Given the description of an element on the screen output the (x, y) to click on. 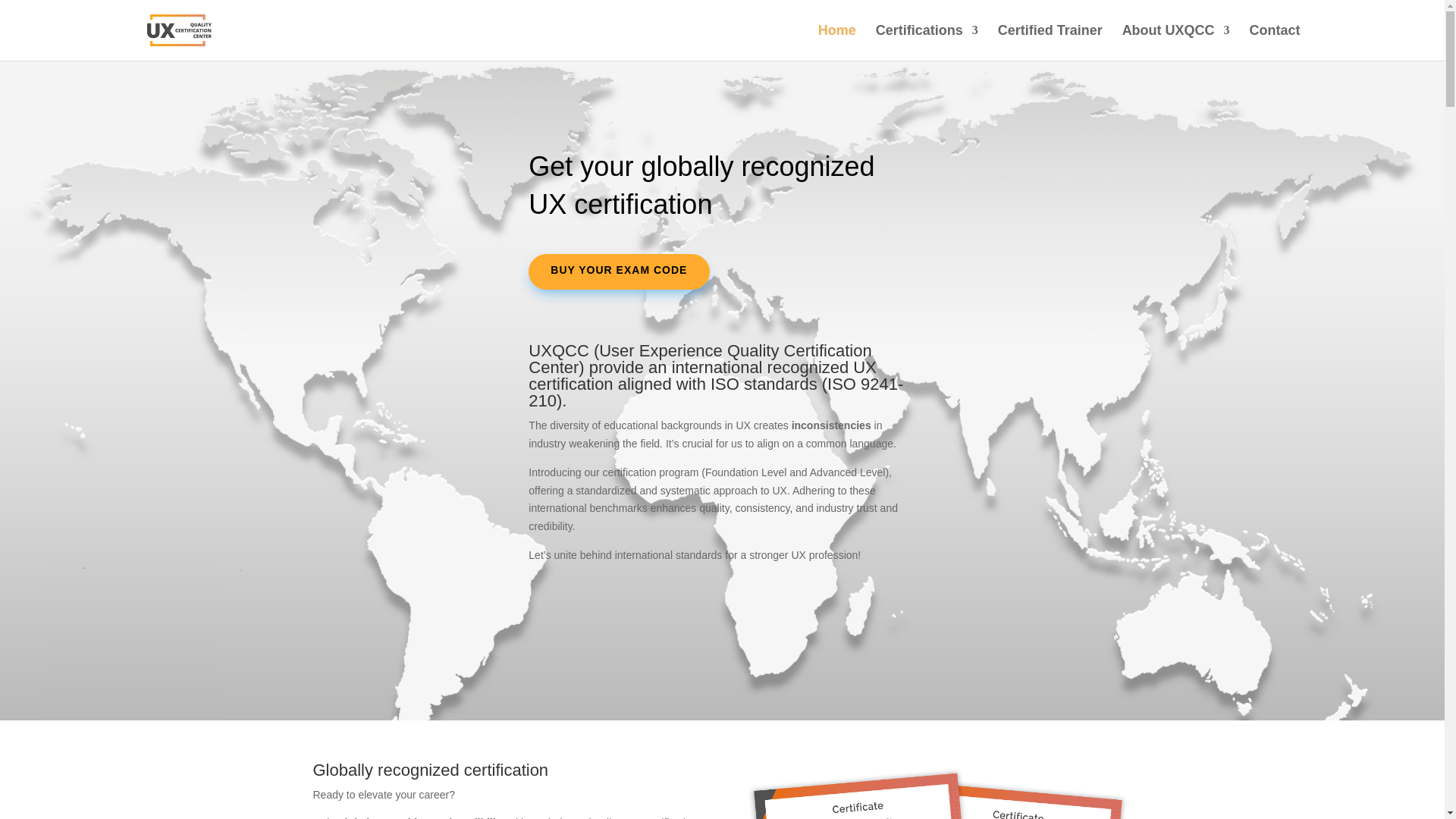
Home (837, 42)
Contact (1274, 42)
Certifications (927, 42)
BUY YOUR EXAM CODE (619, 271)
About UXQCC (1176, 42)
Certified Trainer (1049, 42)
